Given the description of an element on the screen output the (x, y) to click on. 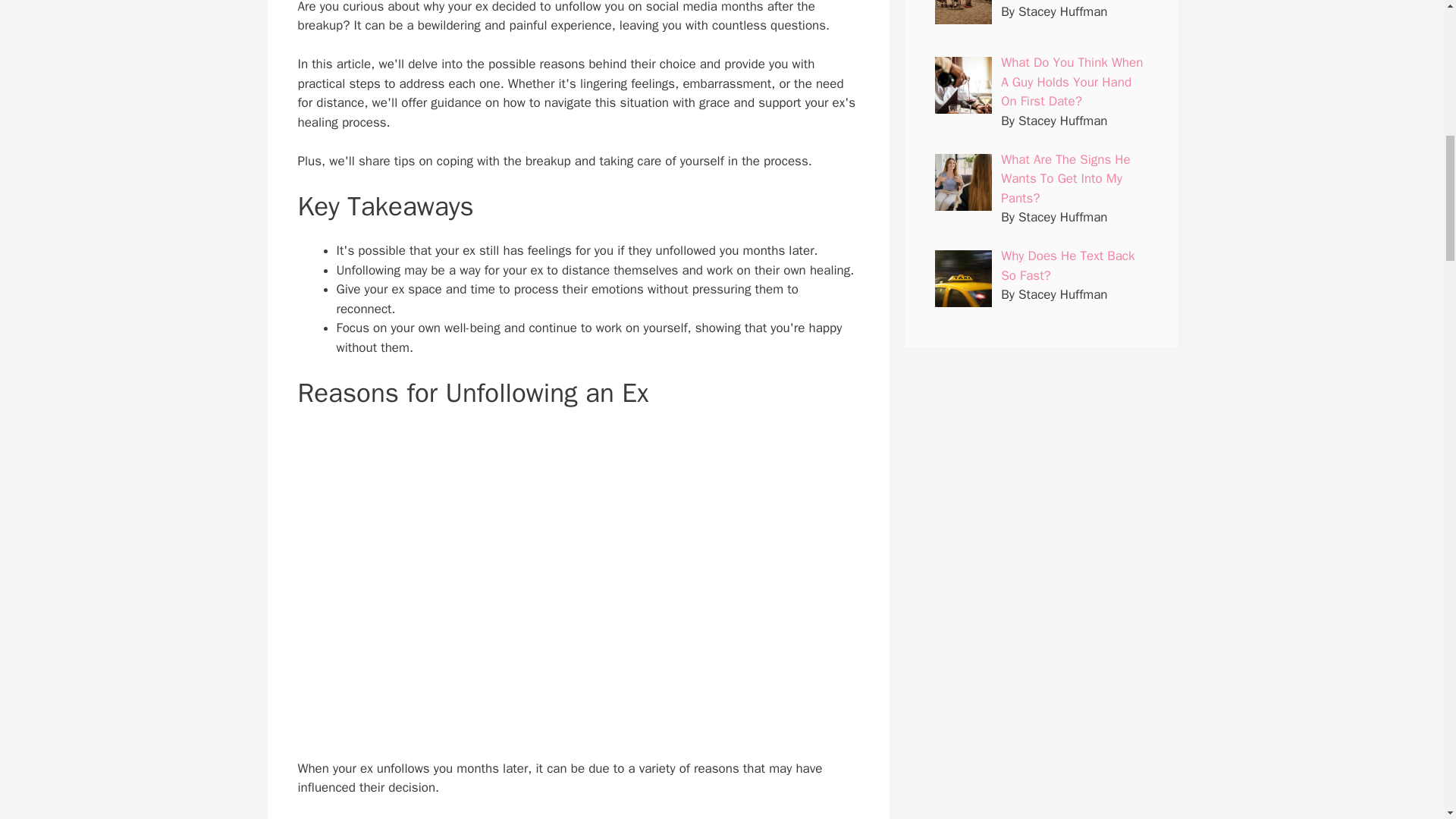
What Are The Signs He Wants To Get Into My Pants? (1065, 178)
What Do You Think When A Guy Holds Your Hand On First Date? (1071, 81)
Why Does He Text Back So Fast? (1067, 265)
